Given the description of an element on the screen output the (x, y) to click on. 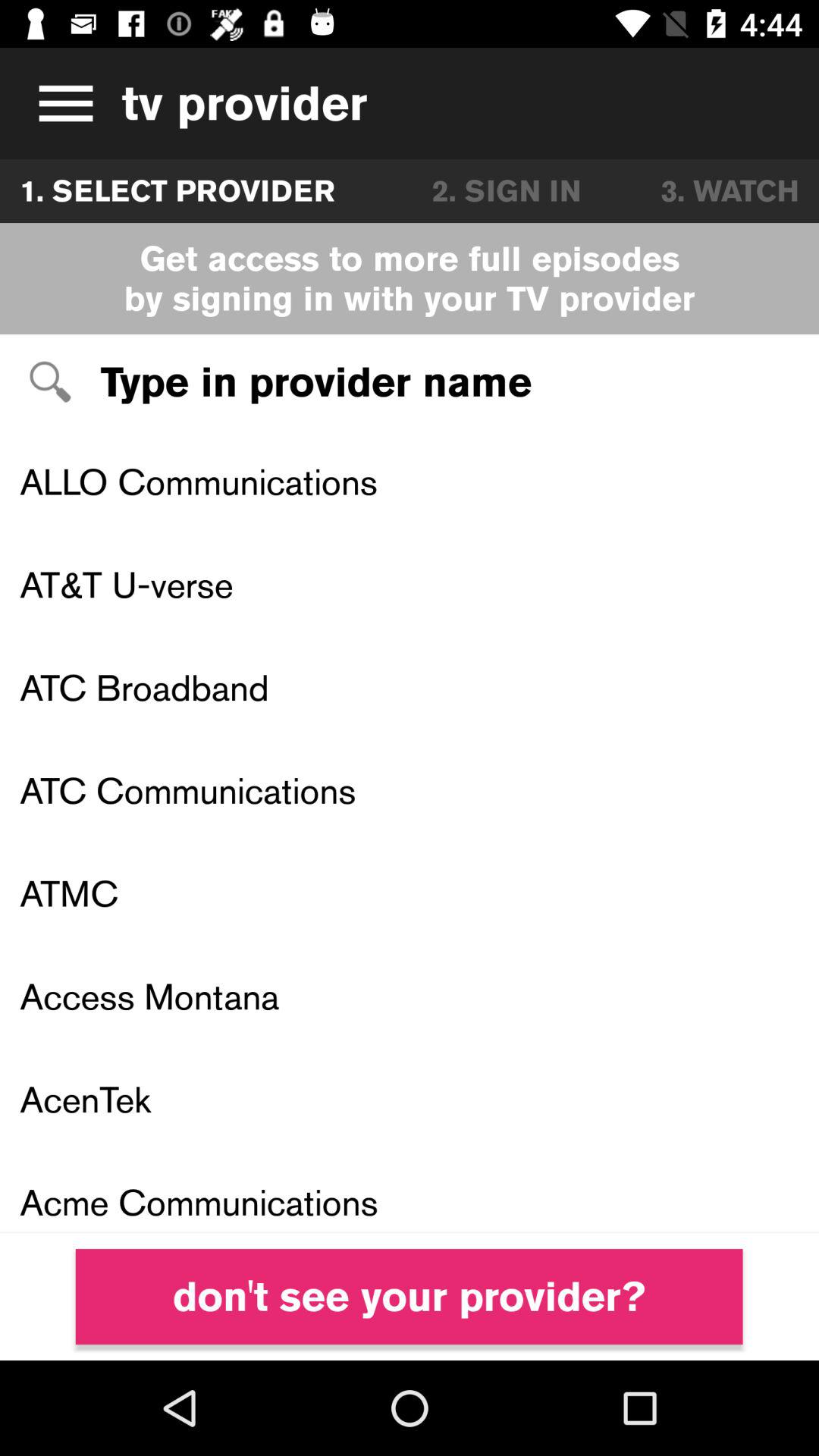
click the at t u (409, 584)
